Given the description of an element on the screen output the (x, y) to click on. 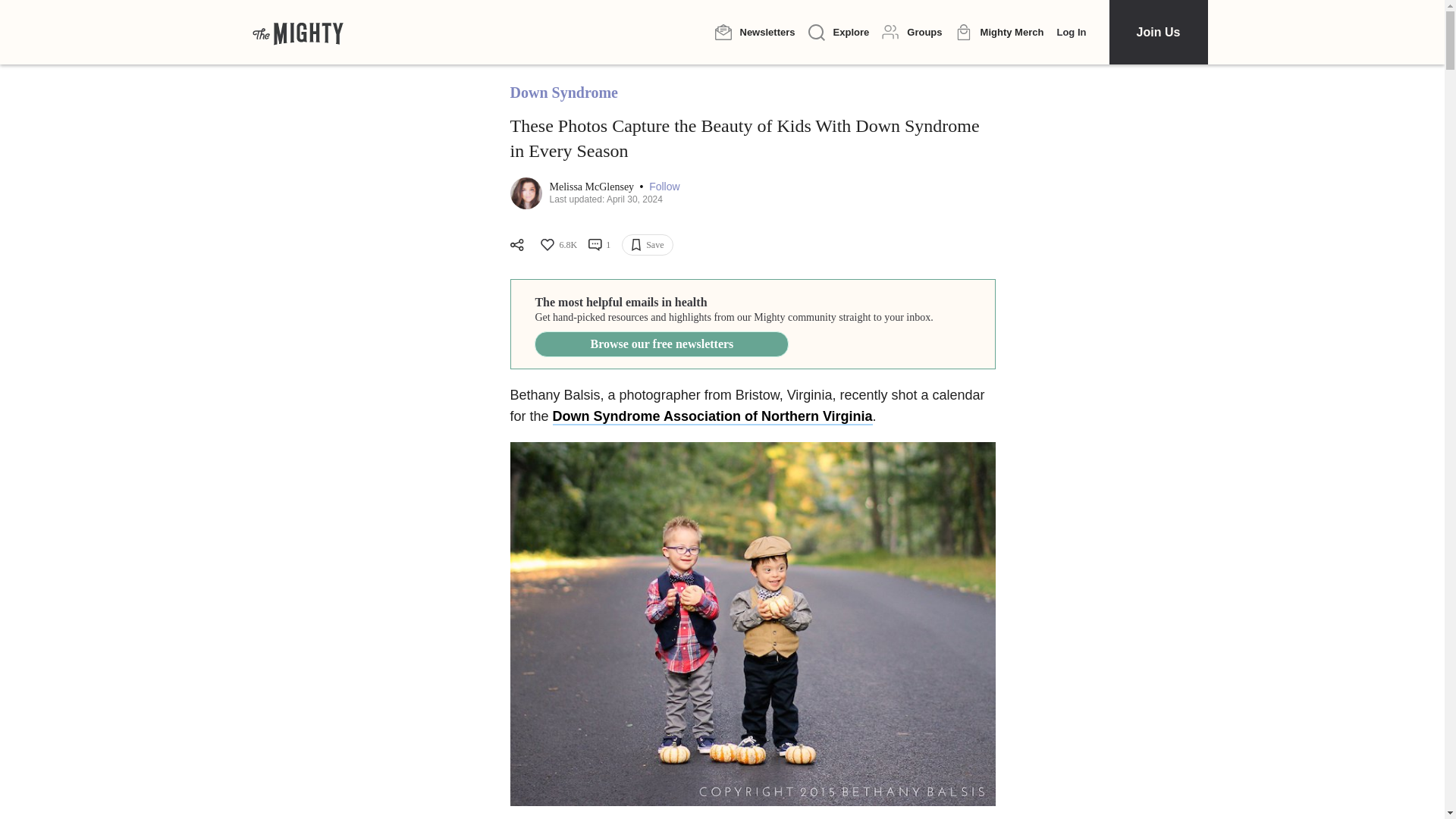
Groups (912, 32)
Down Syndrome (563, 92)
Browse our free newsletters (661, 344)
Join Us (1157, 32)
Mighty Merch (999, 32)
Save (646, 244)
Explore (838, 32)
1 (599, 244)
Down Syndrome Association of Northern Virginia (712, 416)
6.8K (557, 244)
Melissa McGlensey (592, 186)
The Mighty (296, 32)
Follow (664, 186)
Newsletters (754, 31)
